Given the description of an element on the screen output the (x, y) to click on. 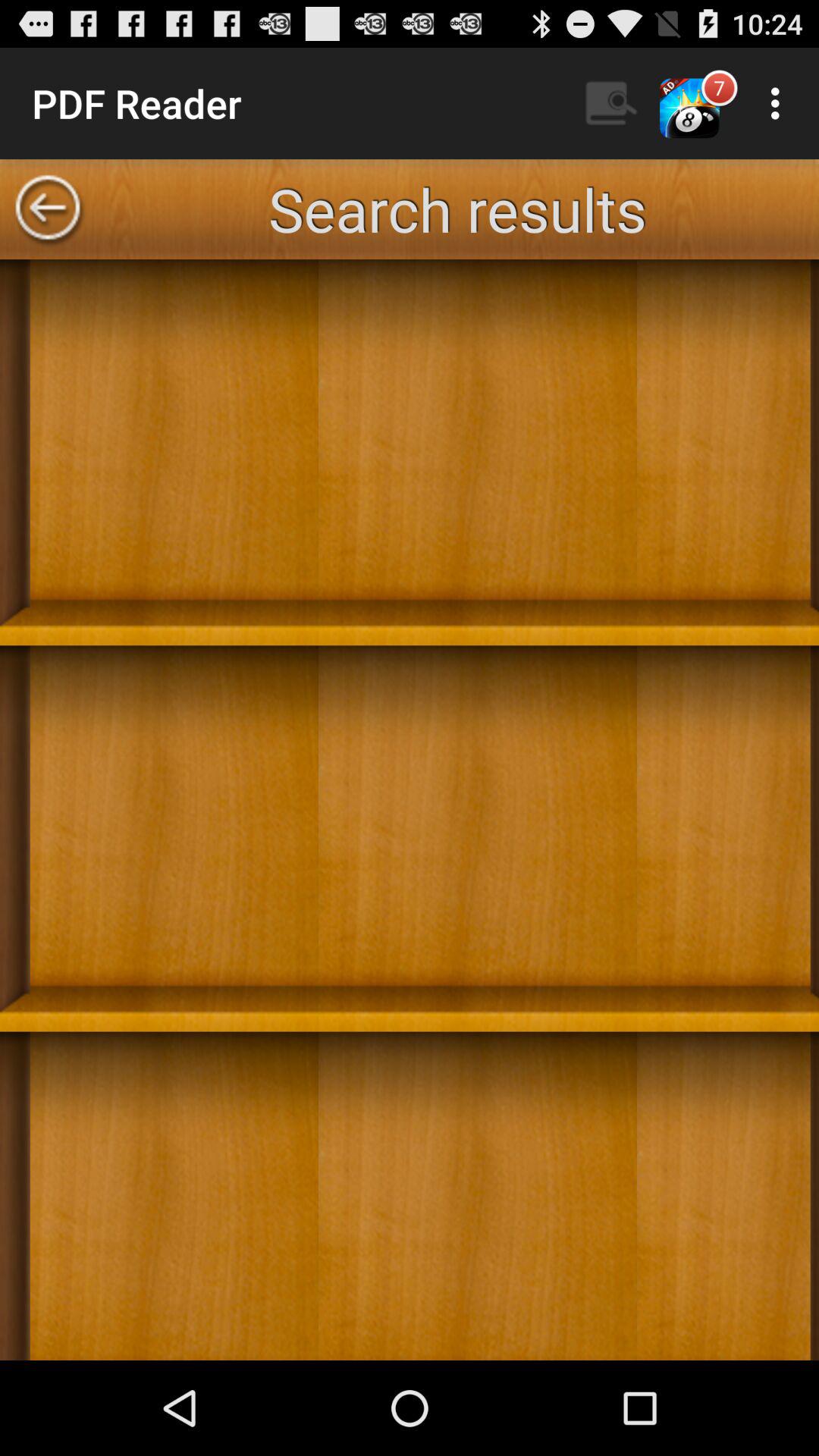
turn off the item next to the 7 item (779, 103)
